Given the description of an element on the screen output the (x, y) to click on. 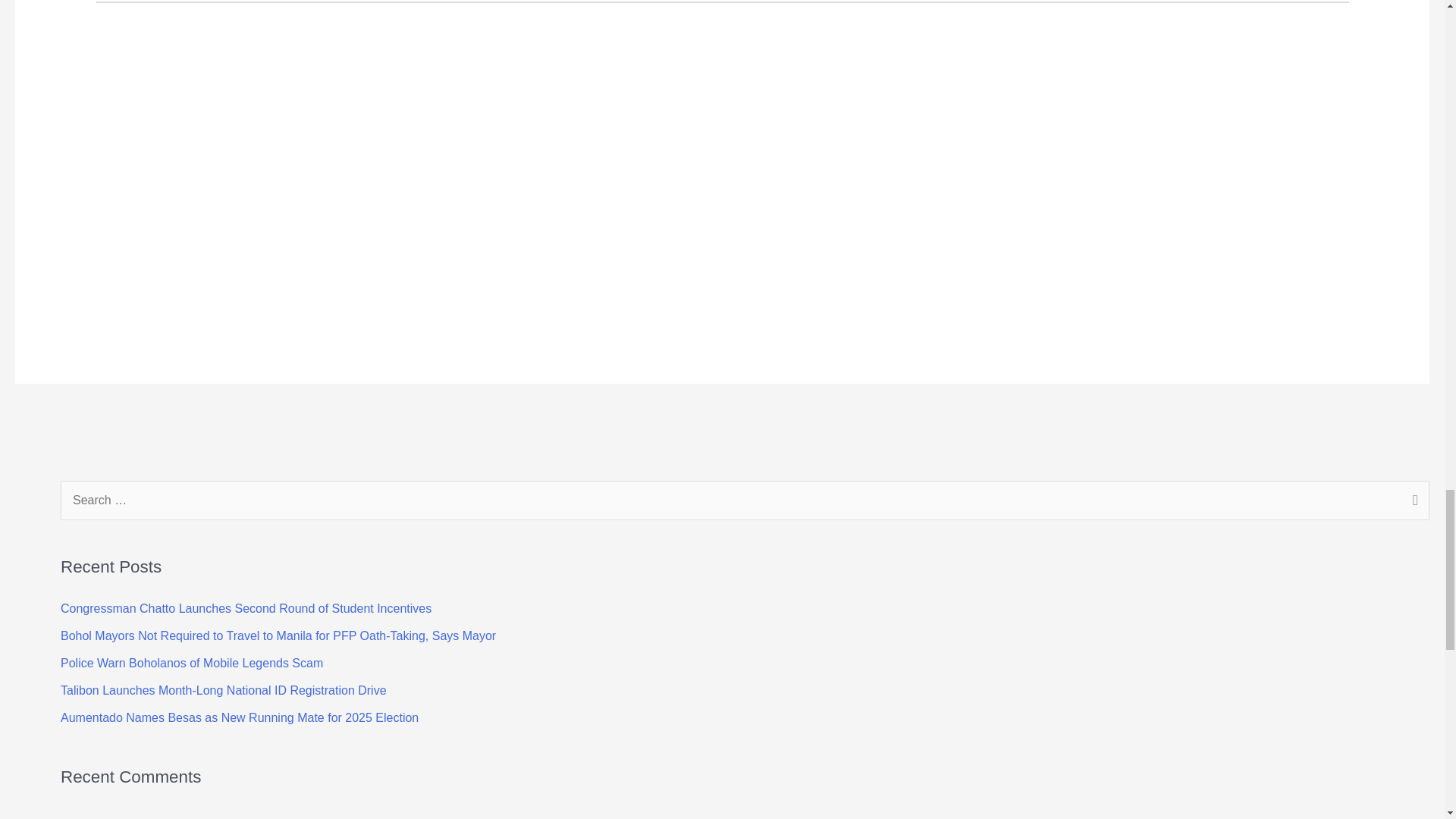
Police Warn Boholanos of Mobile Legends Scam (192, 662)
Aumentado Names Besas as New Running Mate for 2025 Election (240, 717)
Talibon Launches Month-Long National ID Registration Drive (224, 689)
